Given the description of an element on the screen output the (x, y) to click on. 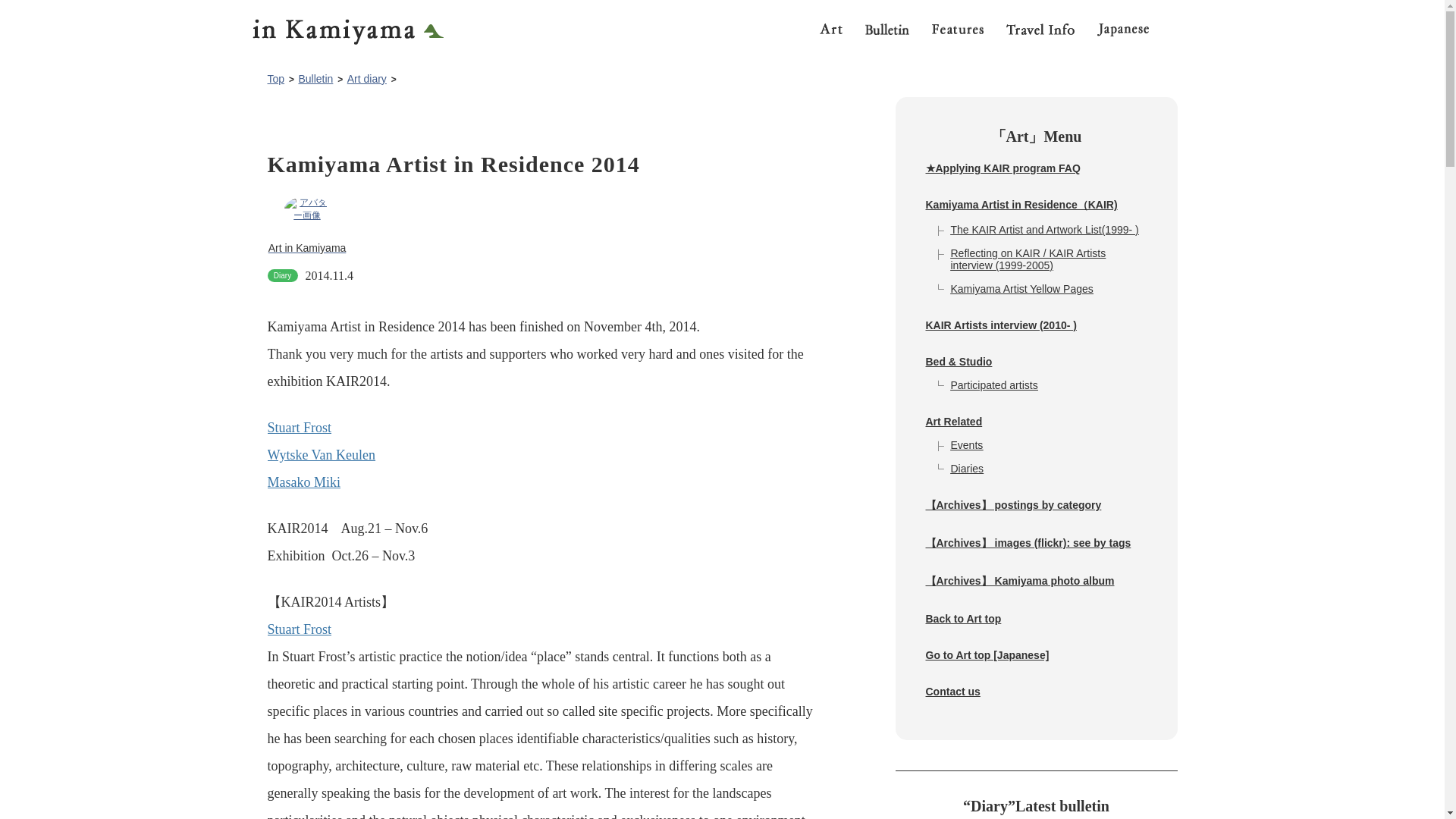
inkamiyama (354, 24)
Masako Miki (303, 482)
Travel Info (1040, 30)
Art diary (367, 78)
Stuart Frost (330, 642)
Bulletin (315, 78)
Top (274, 78)
Art in Kamiyama (306, 224)
Art (829, 30)
Stuart Frost (298, 427)
